Given the description of an element on the screen output the (x, y) to click on. 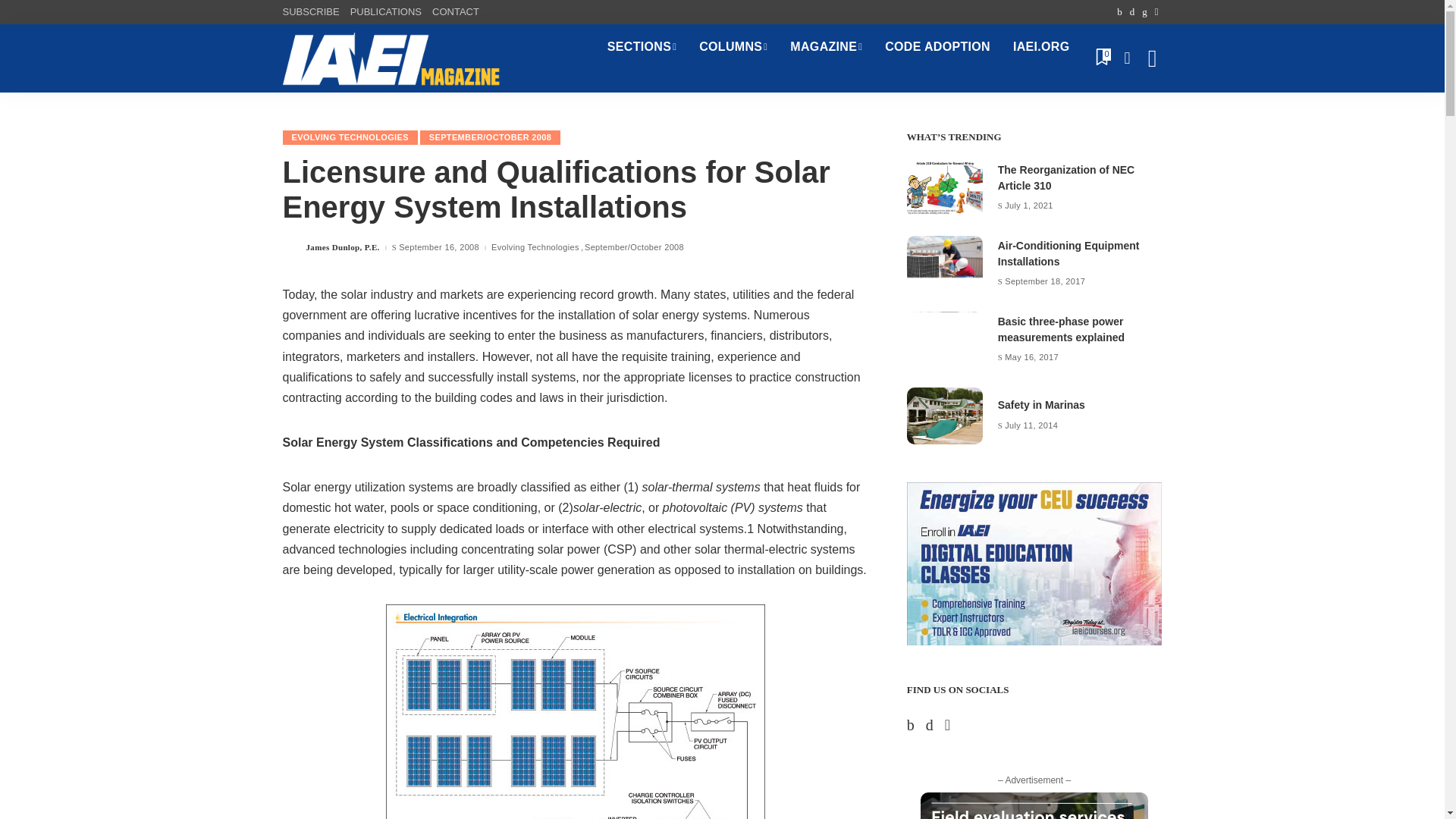
PUBLICATIONS (385, 11)
2008-09-16T21:58:45-05:00 (438, 247)
IAEI Magazine (391, 58)
SUBSCRIBE (312, 11)
CONTACT (455, 11)
